Given the description of an element on the screen output the (x, y) to click on. 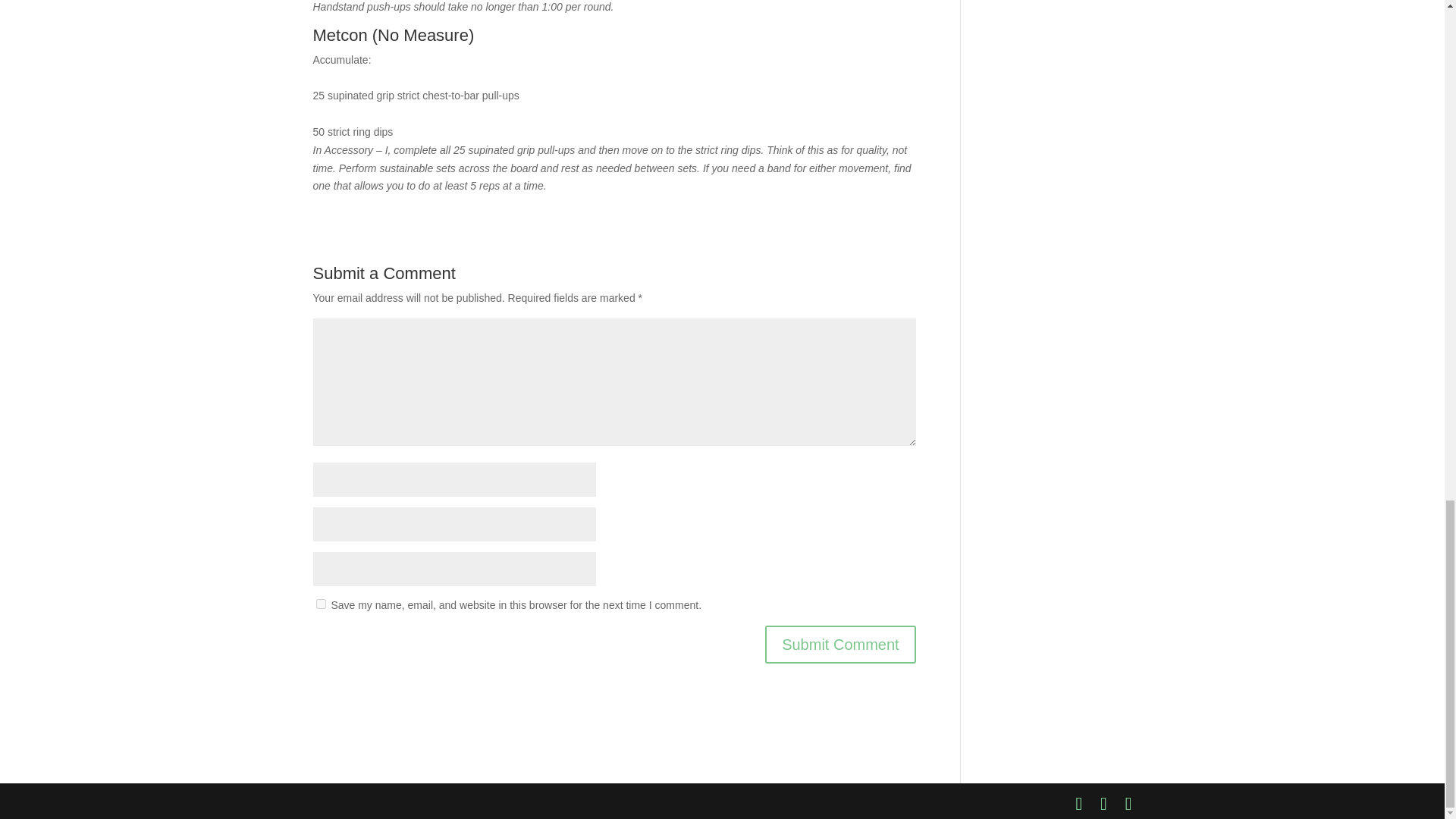
Submit Comment (840, 644)
yes (319, 603)
Submit Comment (840, 644)
